Given the description of an element on the screen output the (x, y) to click on. 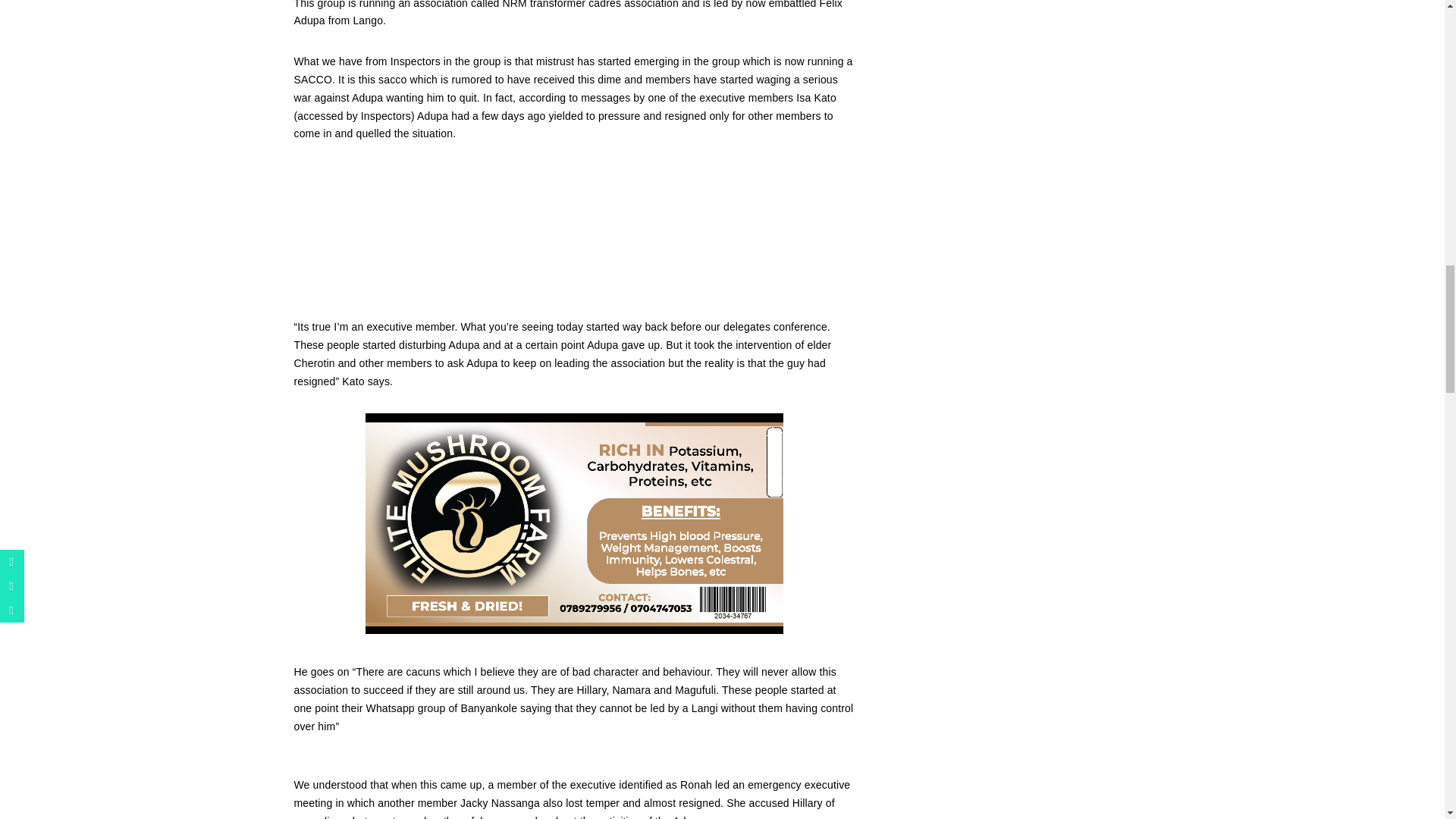
Advertisement (575, 236)
